Given the description of an element on the screen output the (x, y) to click on. 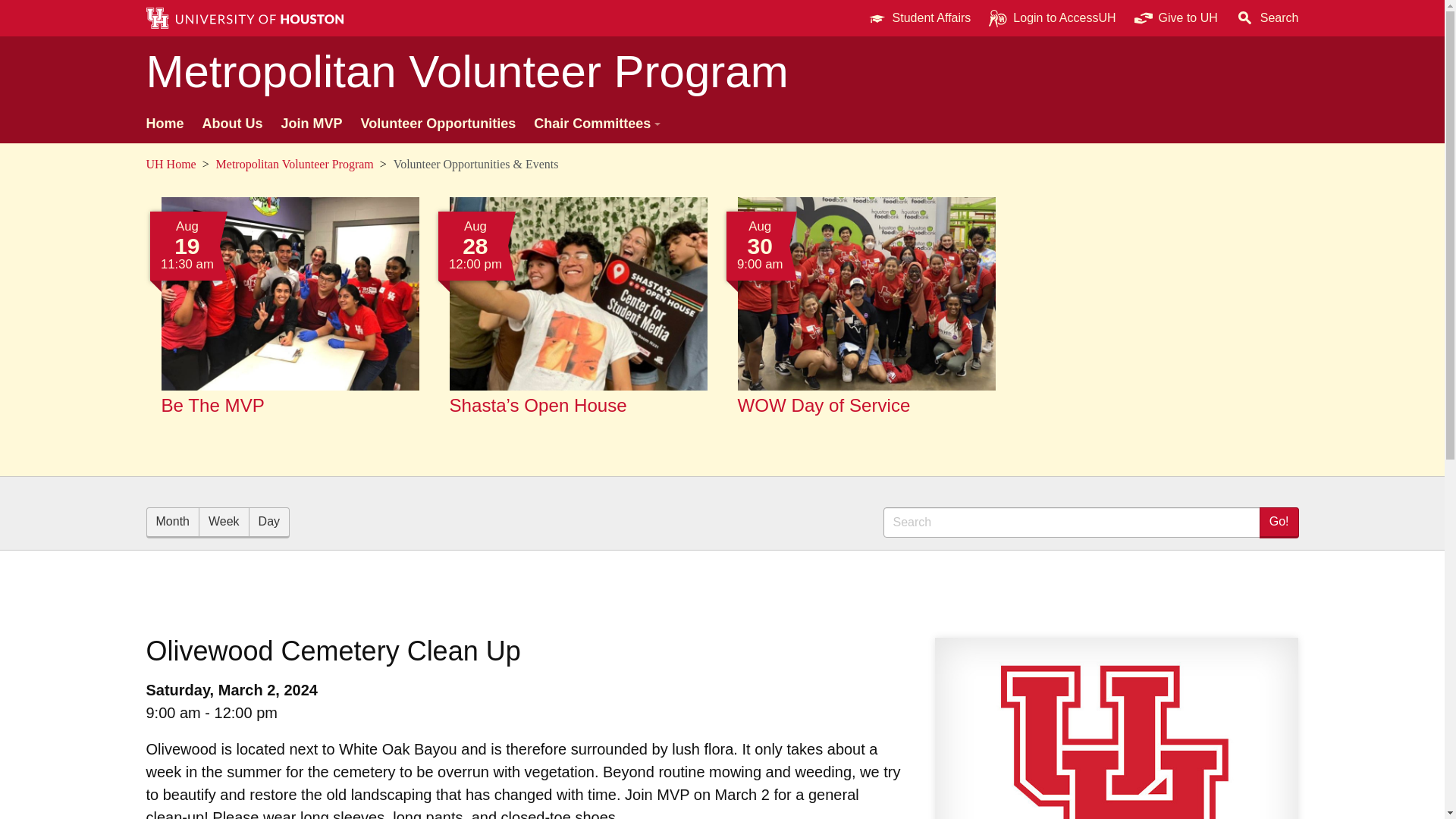
Chair Committees (594, 123)
Metropolitan Volunteer Program (294, 164)
University of Houston (1208, 17)
University of Houston (154, 164)
Login to AccessUH (1051, 18)
Give to UH (1176, 18)
Go! (1278, 522)
Search (1070, 521)
Student Affairs (865, 318)
Week (289, 318)
Day (919, 18)
Month (223, 522)
Metropolitan Volunteer Program (268, 522)
